Given the description of an element on the screen output the (x, y) to click on. 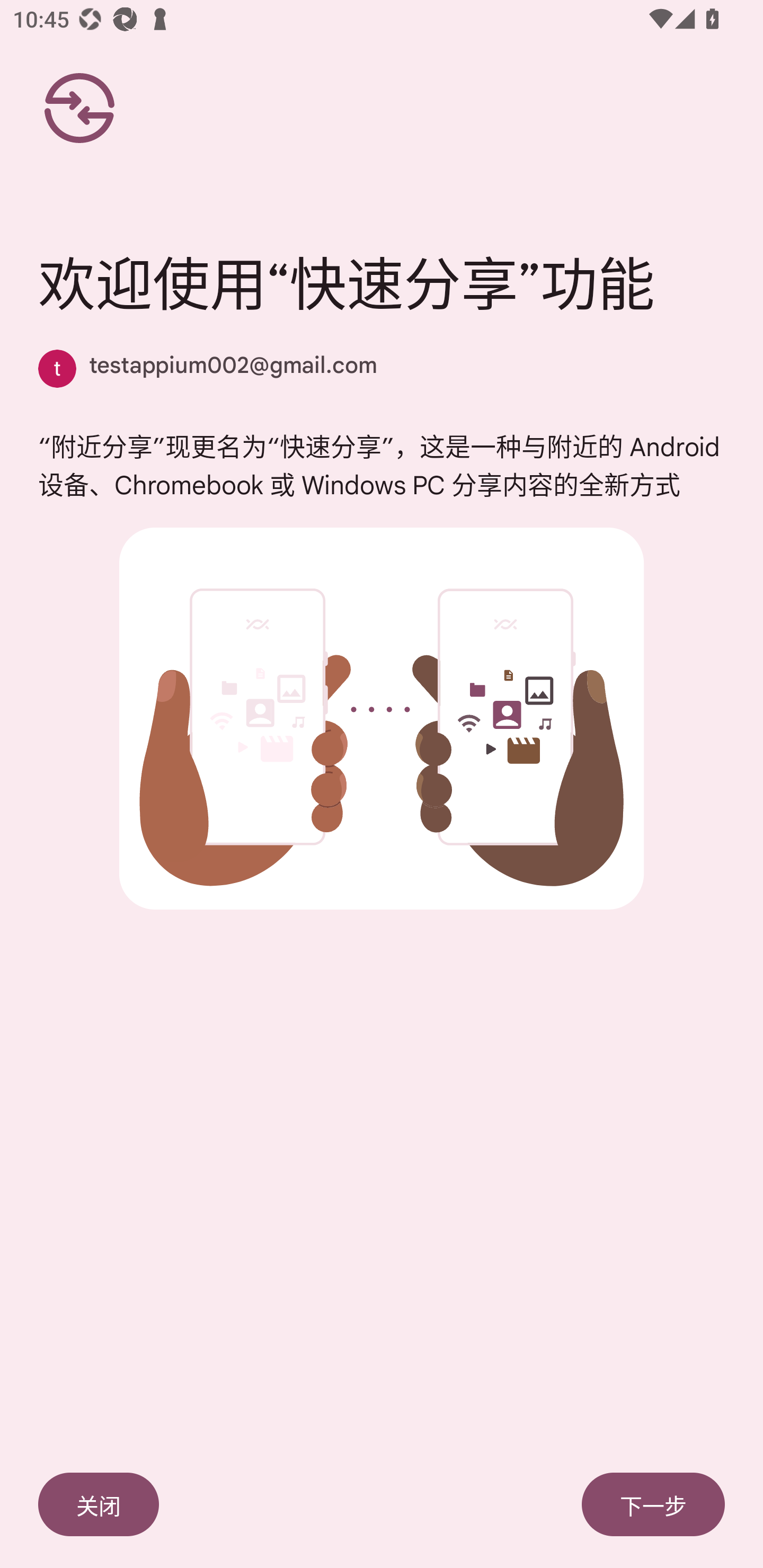
关闭 (98, 1504)
下一步 (652, 1504)
